Given the description of an element on the screen output the (x, y) to click on. 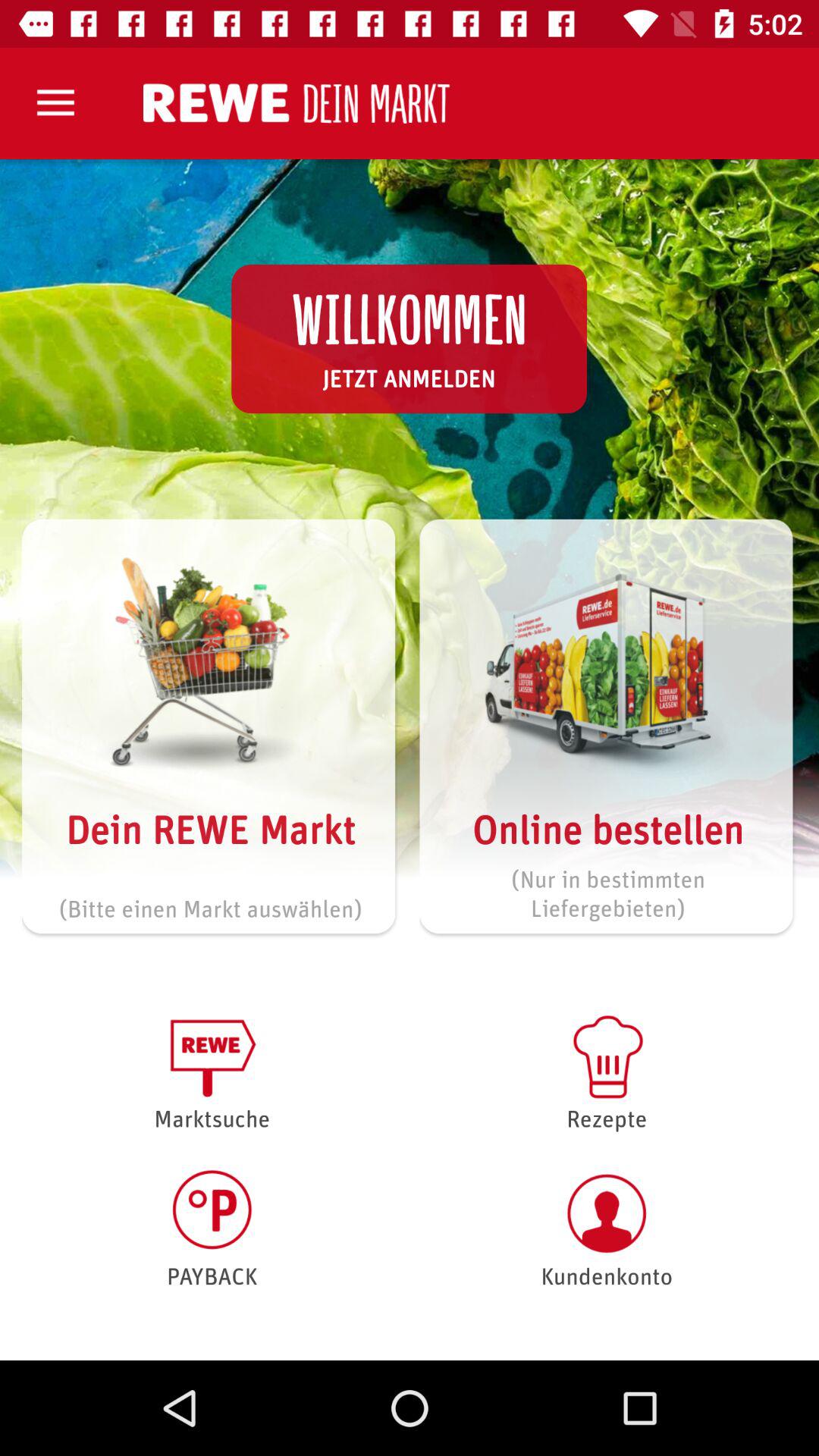
jump to marktsuche item (211, 1070)
